Given the description of an element on the screen output the (x, y) to click on. 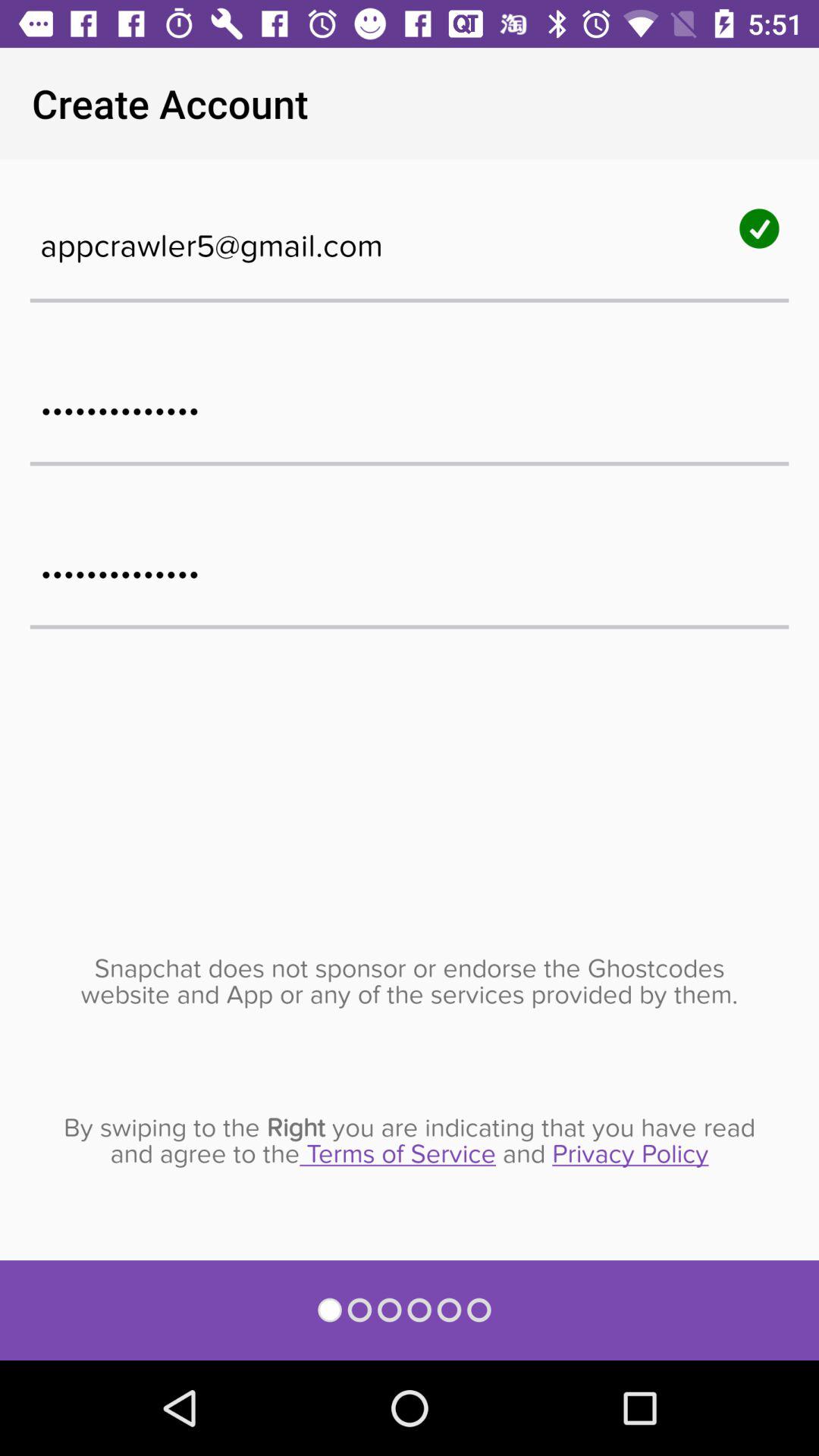
turn off the appcrawler5@gmail.com icon (409, 237)
